Given the description of an element on the screen output the (x, y) to click on. 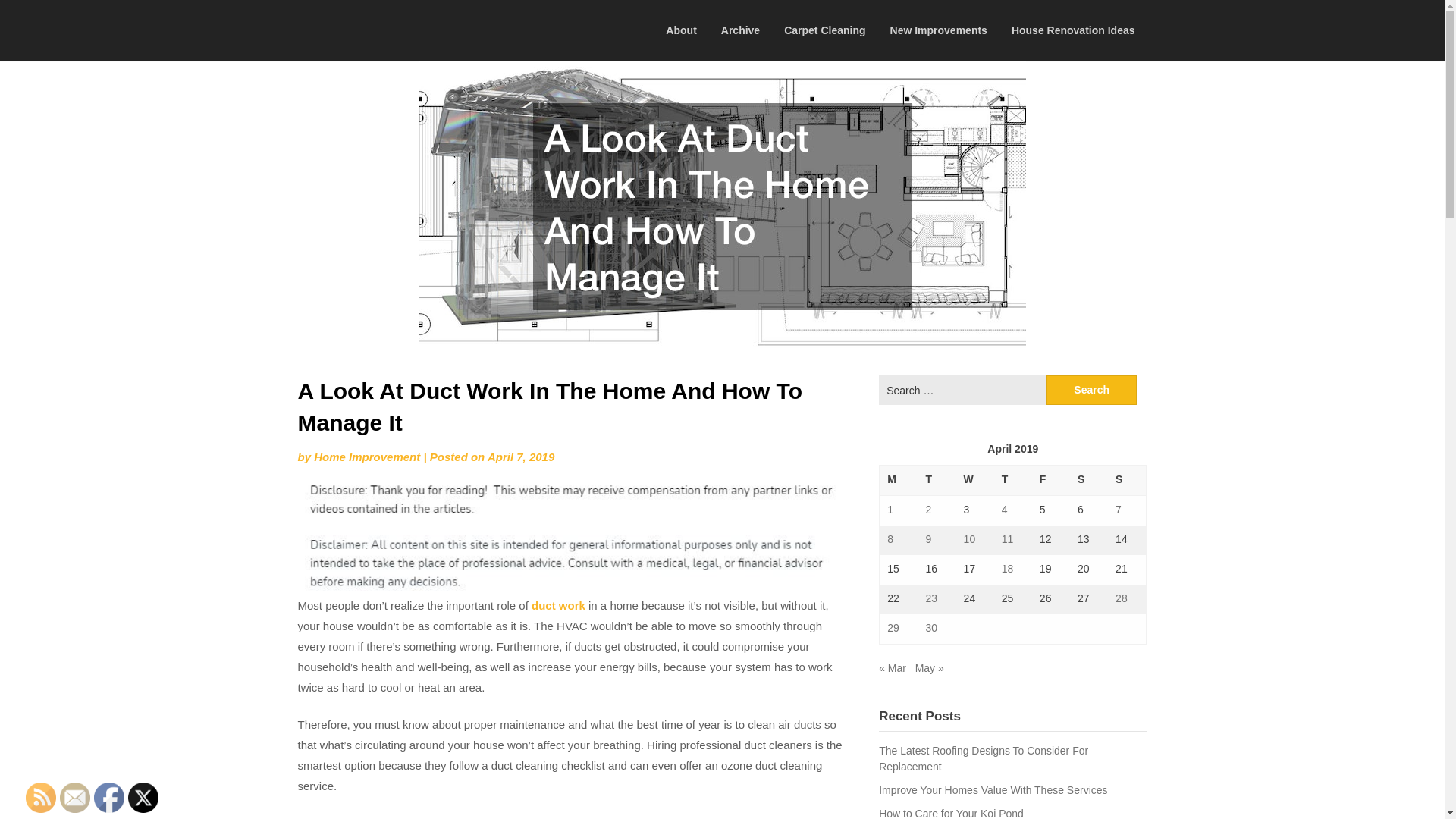
18 (1007, 568)
House Renovation Ideas (1072, 30)
Wednesday (975, 481)
April 7, 2019 (520, 456)
Carpet Cleaning (824, 30)
Tuesday (936, 481)
30 (930, 627)
7 (1118, 509)
23 (930, 598)
Search (1091, 389)
29 (892, 627)
About (680, 30)
Improve Your Homes Value With These Services (992, 789)
9 (927, 539)
How to Care for Your Koi Pond (951, 813)
